Given the description of an element on the screen output the (x, y) to click on. 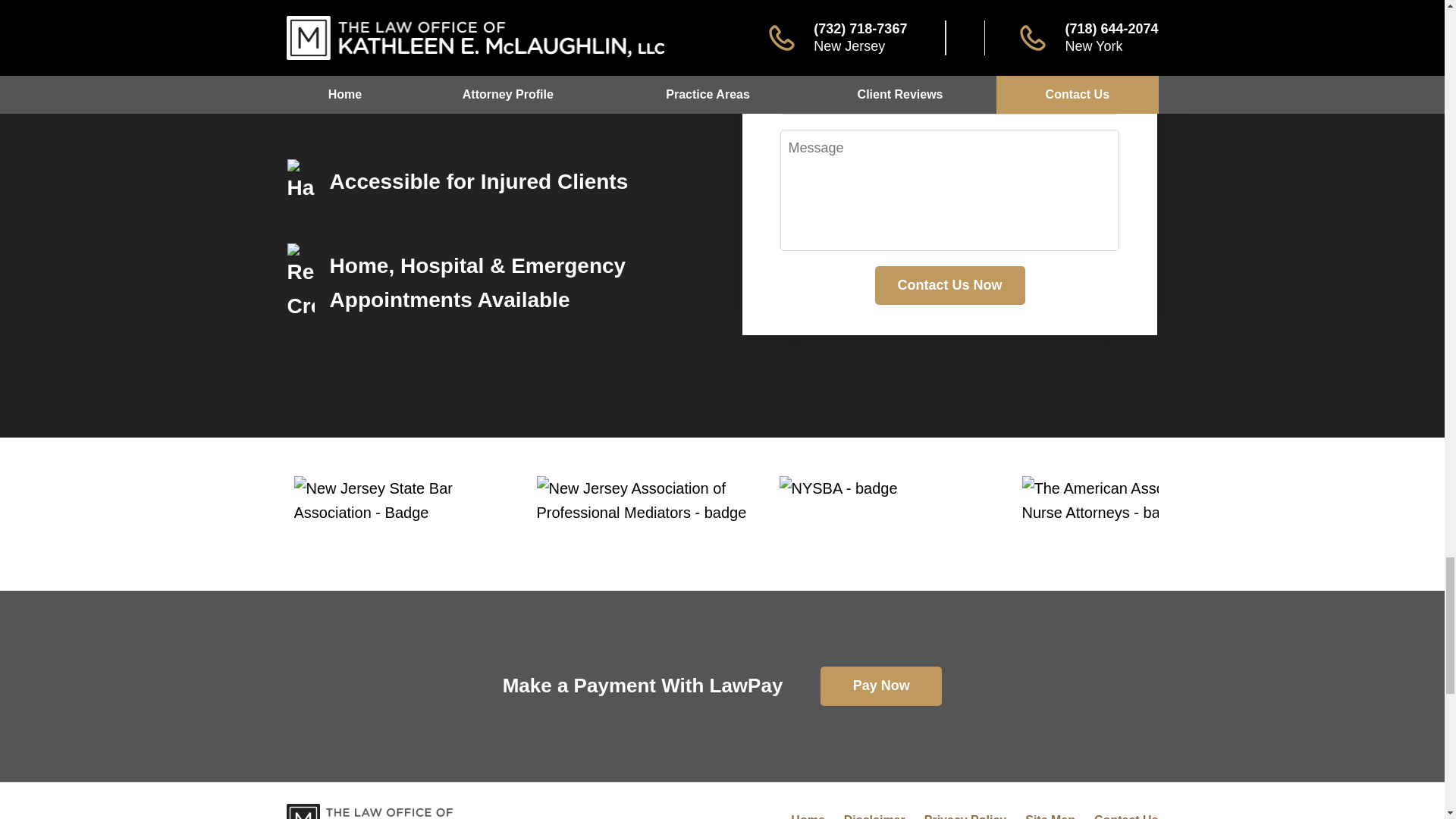
Home (807, 816)
Disclaimer (874, 816)
Site Map (1050, 816)
Privacy Policy (965, 816)
Pay Now (881, 685)
Contact Us (1125, 816)
Contact Us Now (950, 285)
